Given the description of an element on the screen output the (x, y) to click on. 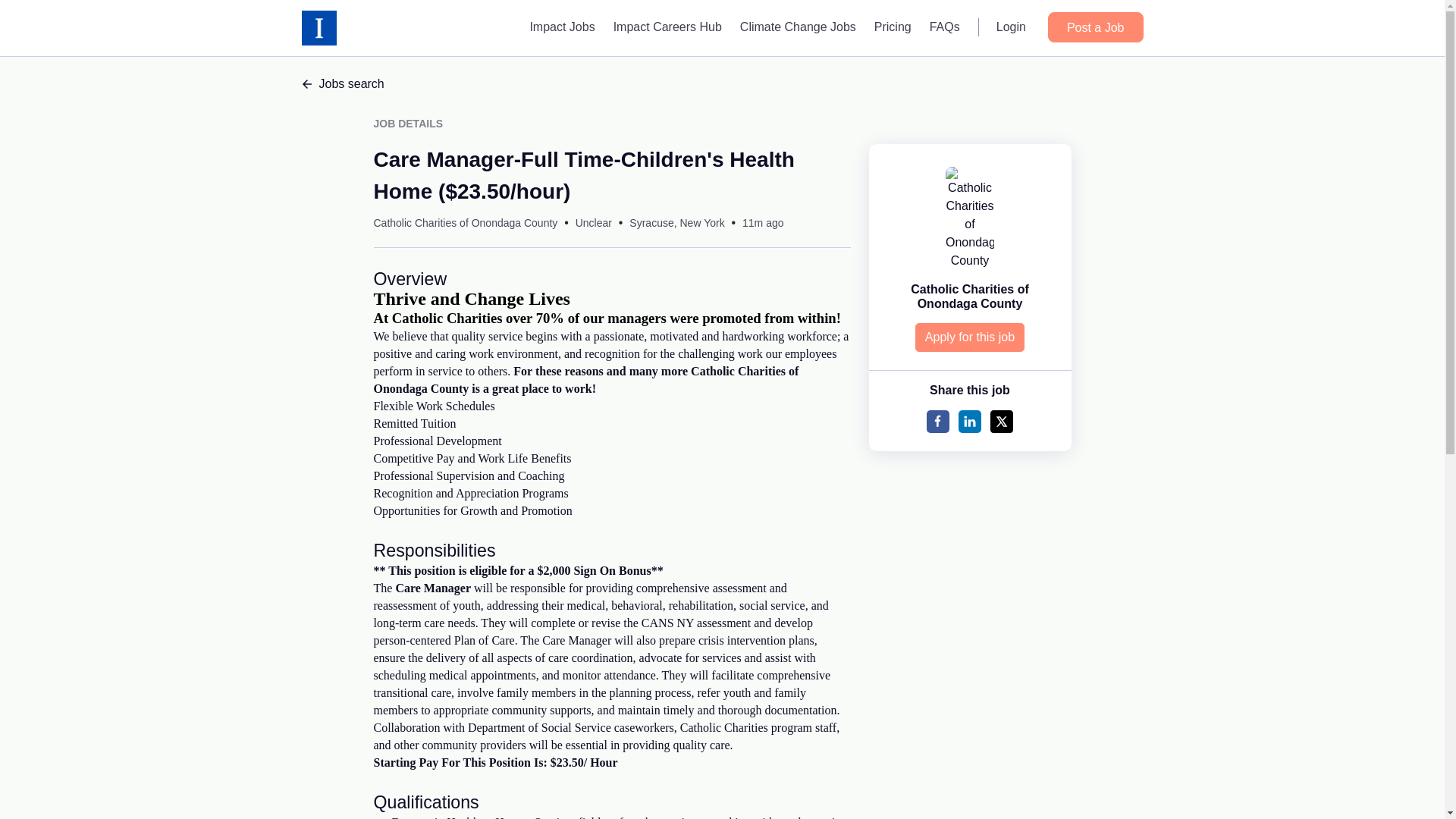
Login (1011, 26)
Catholic Charities of Onondaga County (464, 223)
Unclear (593, 223)
Apply for this job (970, 337)
Share to Twitter (1001, 421)
Share to Linkedin (969, 421)
Pricing (892, 26)
Jobs search (721, 84)
Share to FB (937, 421)
Catholic Charities of Onondaga County (970, 296)
Impact Careers Hub (667, 26)
Syracuse, New York (675, 223)
Impact Jobs (561, 26)
FAQs (944, 26)
Post a Job (1095, 27)
